Given the description of an element on the screen output the (x, y) to click on. 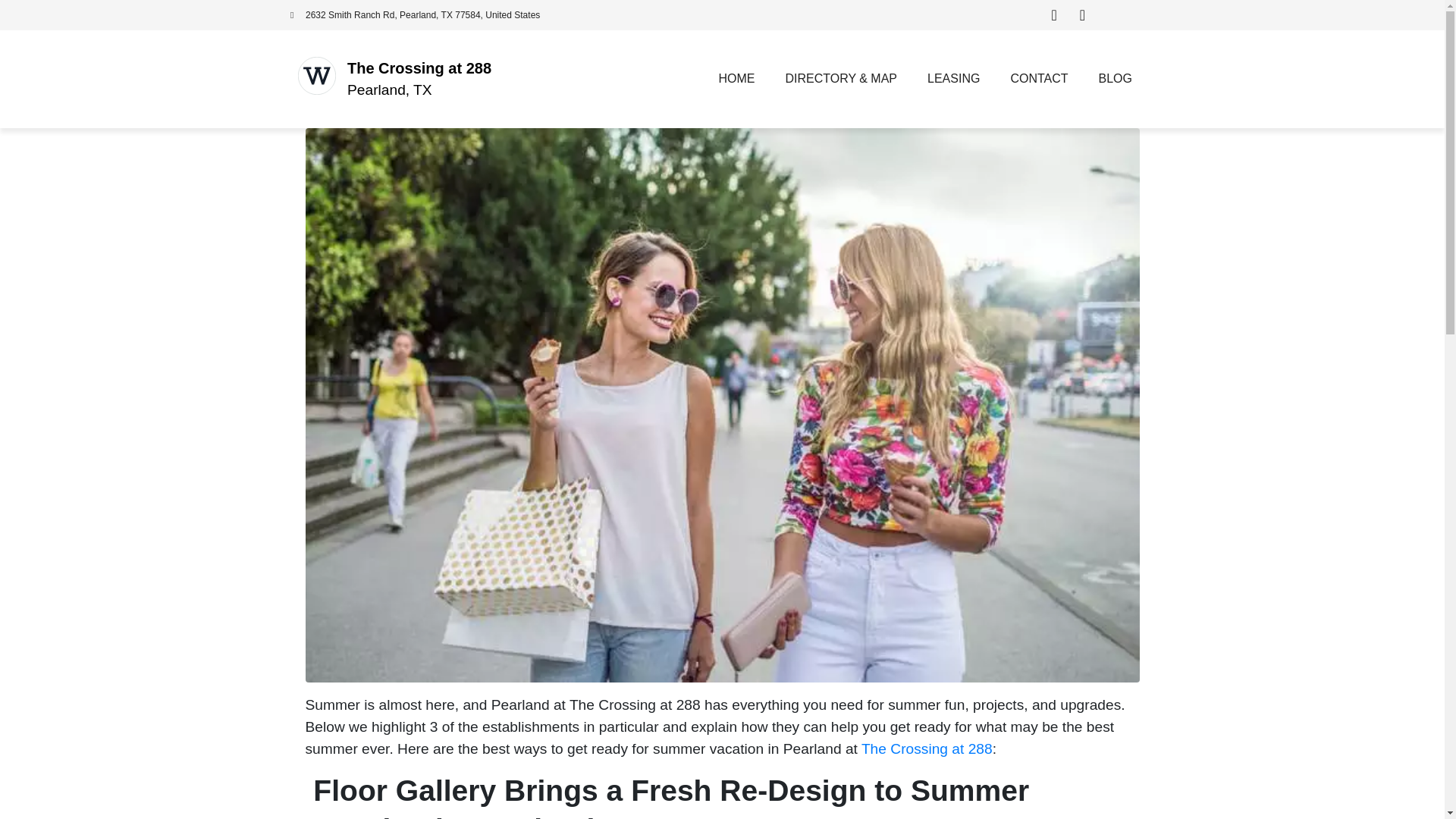
LEASING (953, 78)
BLOG (1115, 78)
CONTACT (1038, 78)
HOME (736, 78)
The Crossing at 288 (926, 748)
The Crossing at 288 (419, 67)
